Given the description of an element on the screen output the (x, y) to click on. 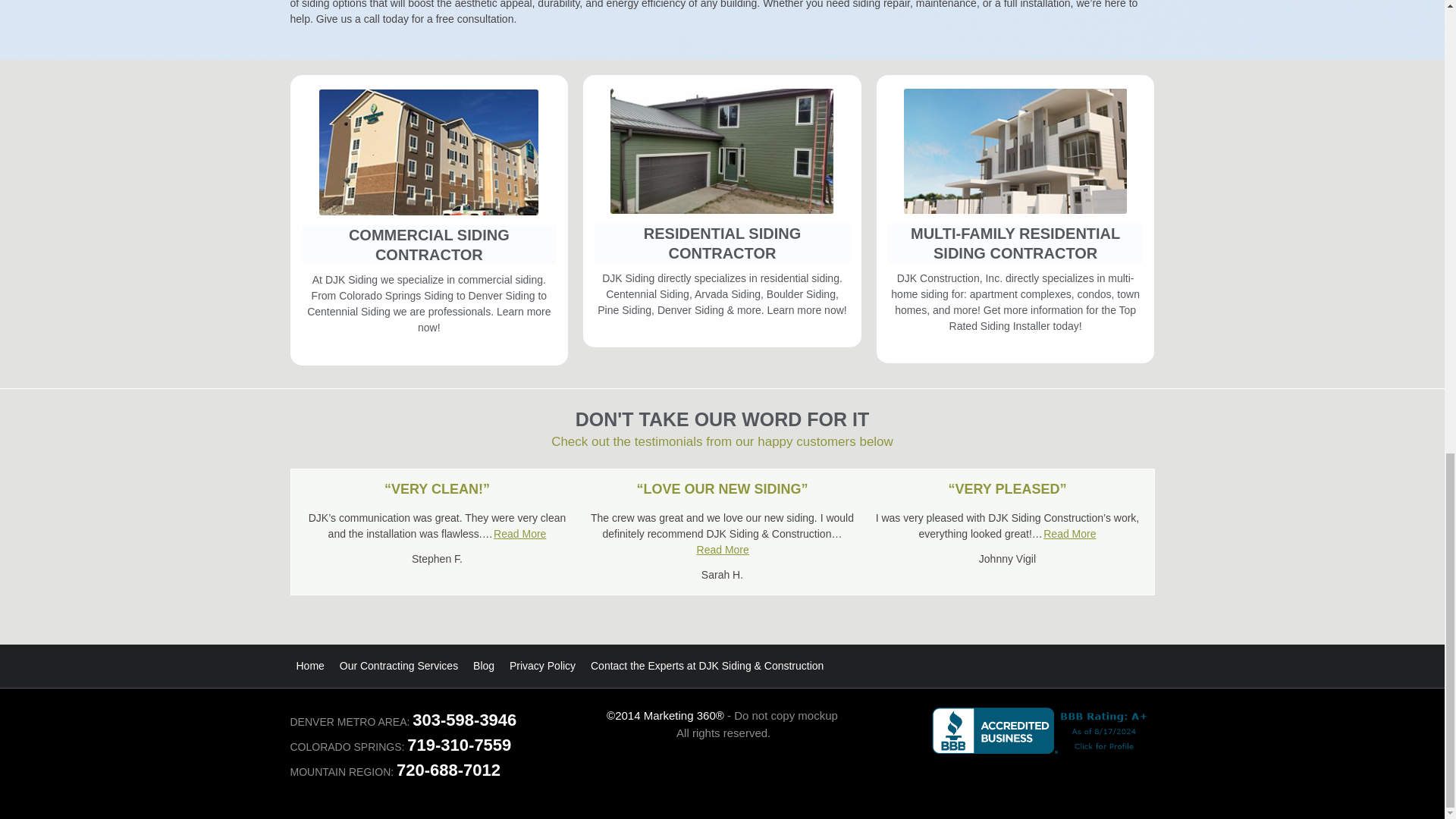
Read Full Post (1069, 534)
Read Full Post (723, 549)
Read Full Post (519, 534)
Permanent Link to Full Post (722, 488)
Permanent Link to Full Post (1006, 488)
Permanent Link to Full Post (436, 488)
